Given the description of an element on the screen output the (x, y) to click on. 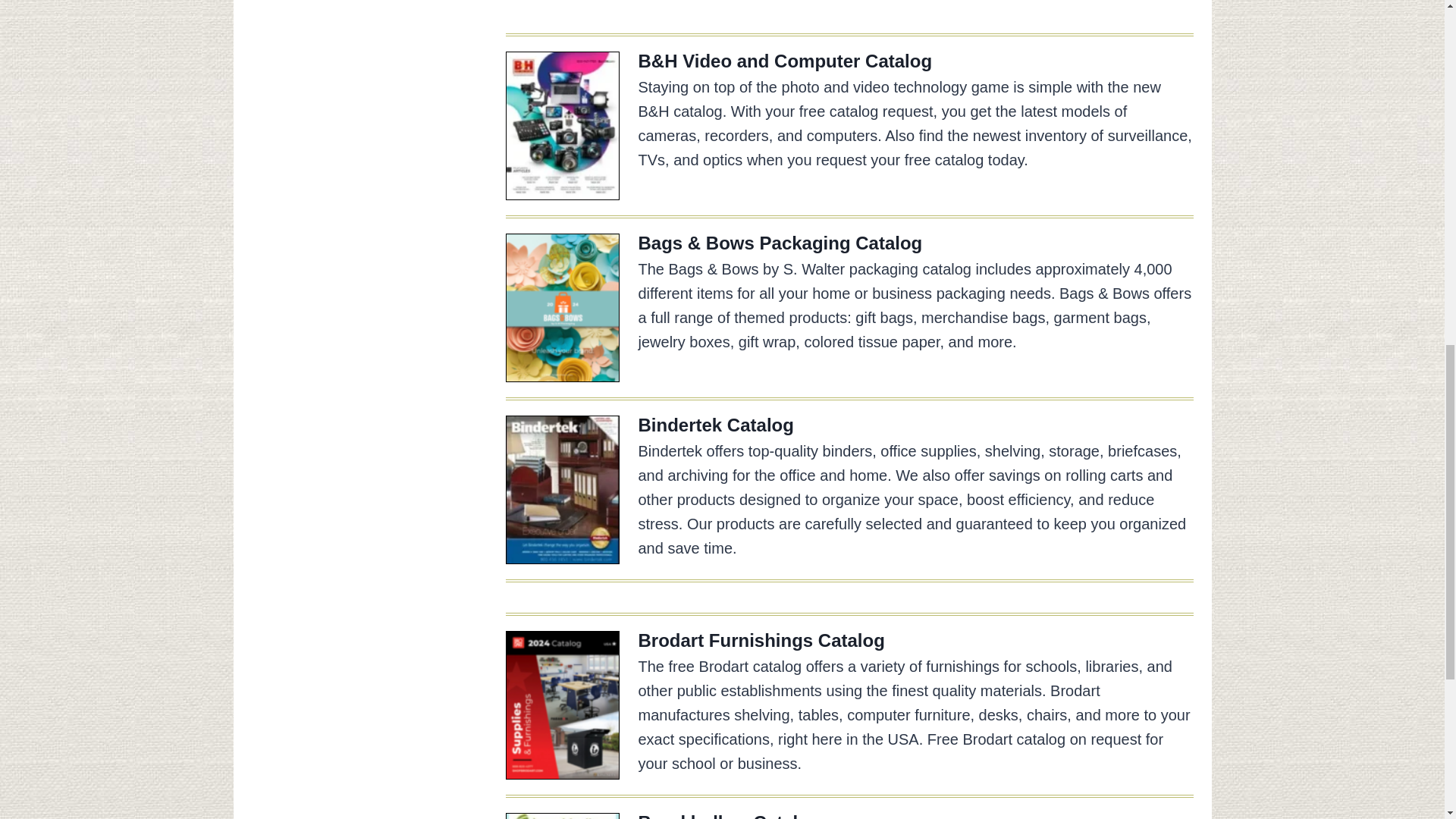
Brookhollow Catalog (730, 815)
Bindertek Catalog (716, 424)
Brodart Furnishings Catalog (762, 639)
